Given the description of an element on the screen output the (x, y) to click on. 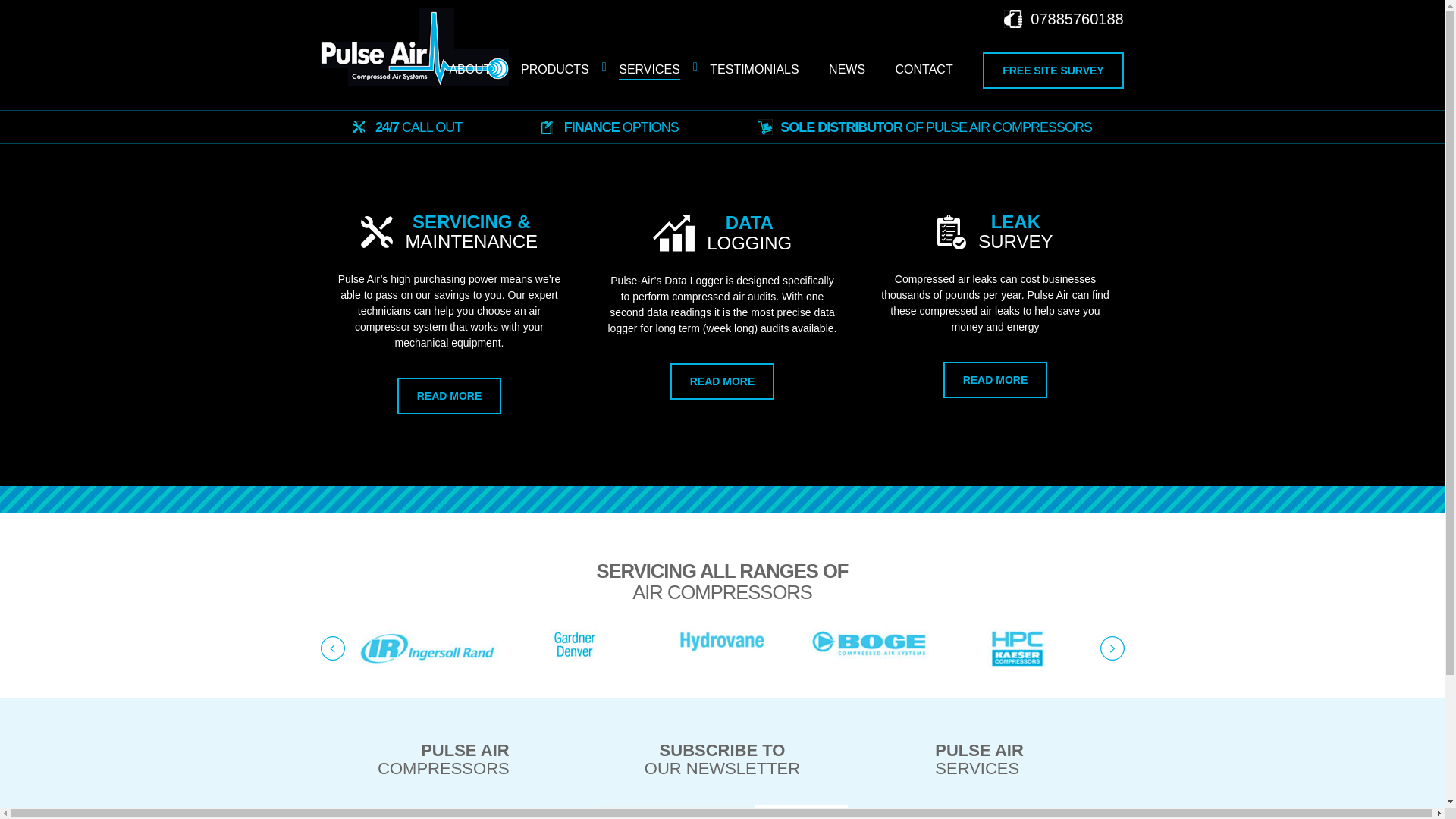
CONTACT (924, 70)
SERVICES (648, 70)
TESTIMONIALS (753, 70)
ABOUT (469, 70)
SIGN UP (801, 812)
PRODUCTS (555, 70)
READ MORE (721, 381)
07885760188 (1063, 18)
NEWS (846, 70)
READ MORE (449, 395)
